Given the description of an element on the screen output the (x, y) to click on. 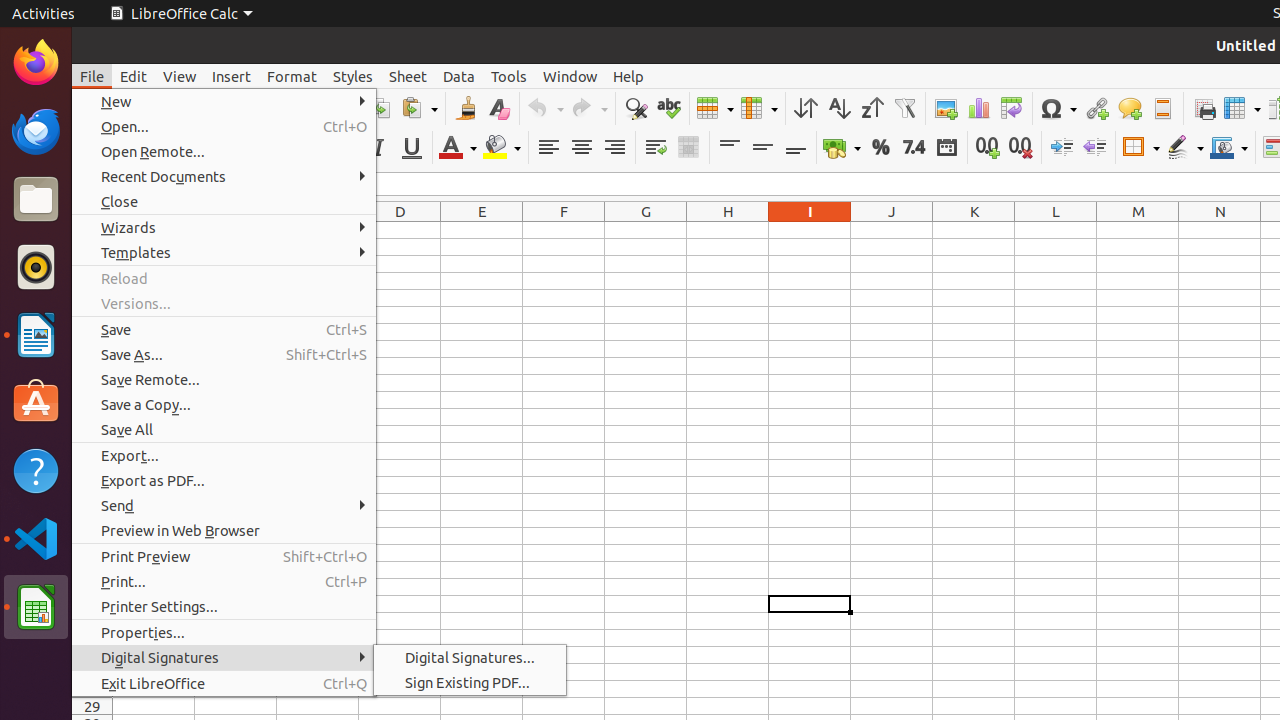
E1 Element type: table-cell (482, 230)
Border Color Element type: push-button (1229, 147)
Redo Element type: push-button (589, 108)
Wizards Element type: menu (224, 227)
Reload Element type: menu-item (224, 278)
